Given the description of an element on the screen output the (x, y) to click on. 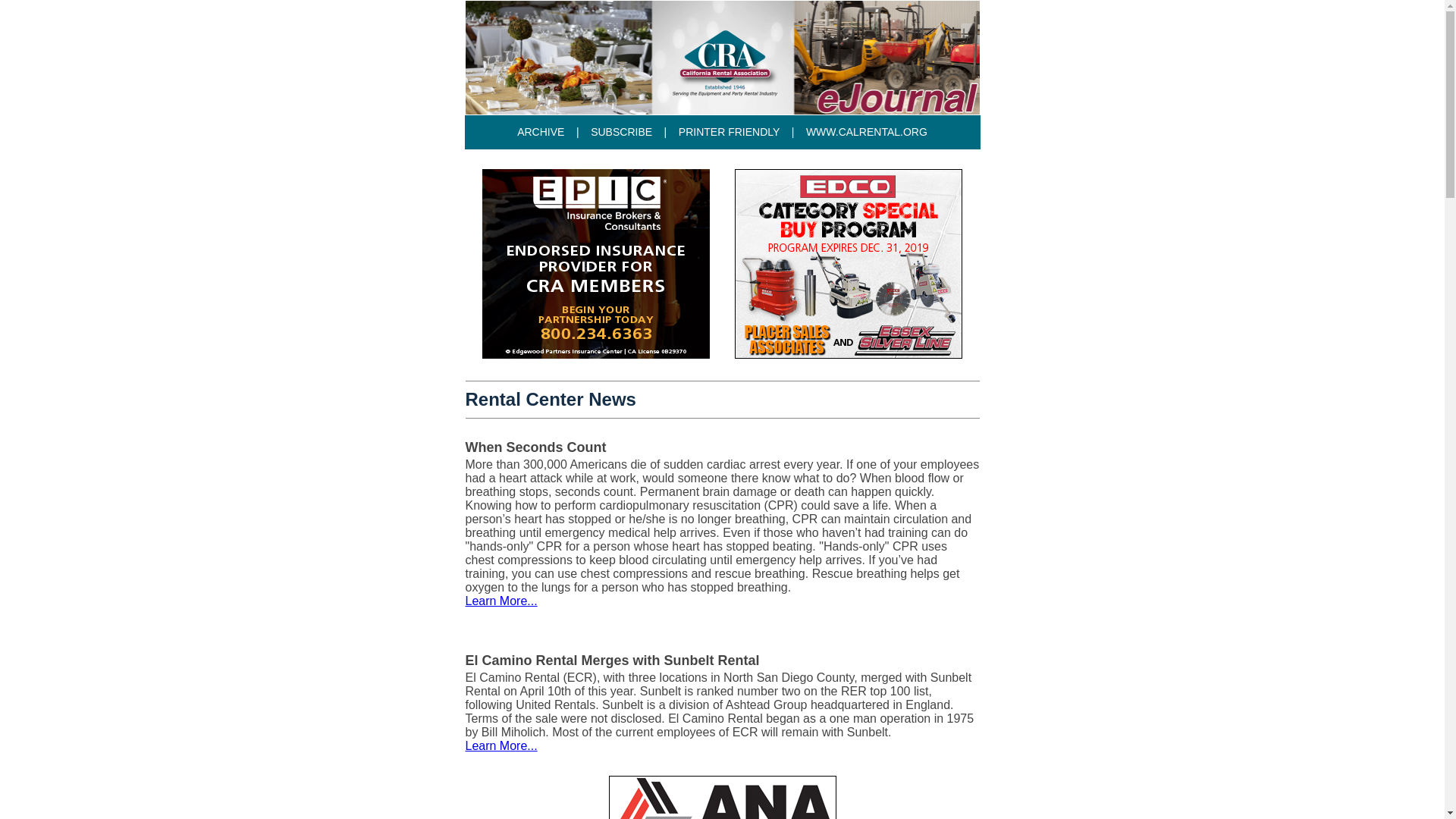
WWW.CALRENTAL.ORG (866, 132)
Learn More... (501, 600)
Archive (540, 132)
When Seconds Count (536, 447)
www.calrental.org (866, 132)
El Camino Rental Merges with Sunbelt Rental (612, 660)
Learn More... (501, 745)
SUBSCRIBE (621, 132)
PRINTER FRIENDLY (728, 132)
ARCHIVE (540, 132)
